Given the description of an element on the screen output the (x, y) to click on. 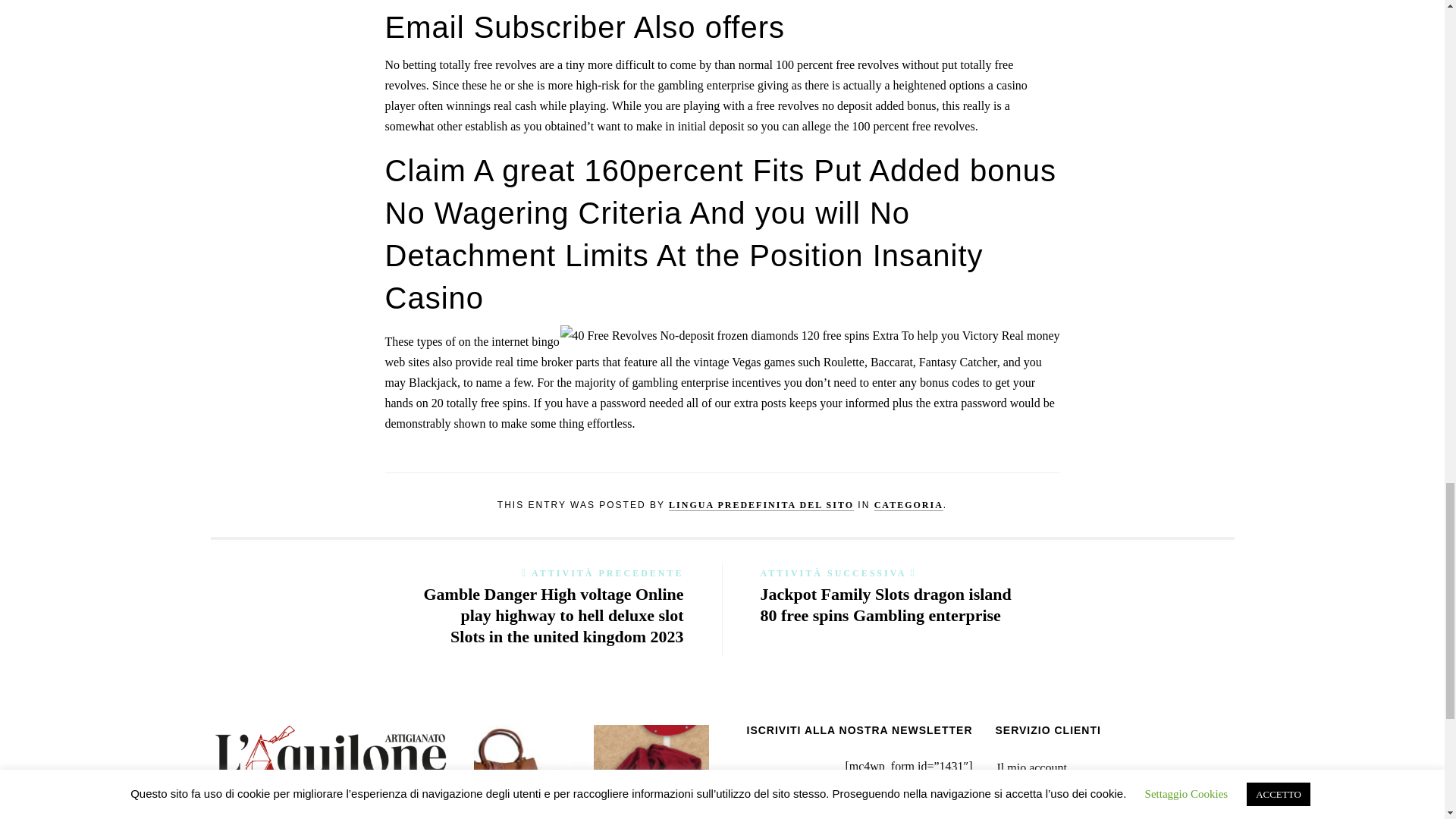
Condizioni di vendita (1048, 811)
CATEGORIA (909, 505)
Il mio account (1030, 767)
LINGUA PREDEFINITA DEL SITO (760, 505)
Visualizza tutti i post di Lingua predefinita del sito (760, 505)
